Given the description of an element on the screen output the (x, y) to click on. 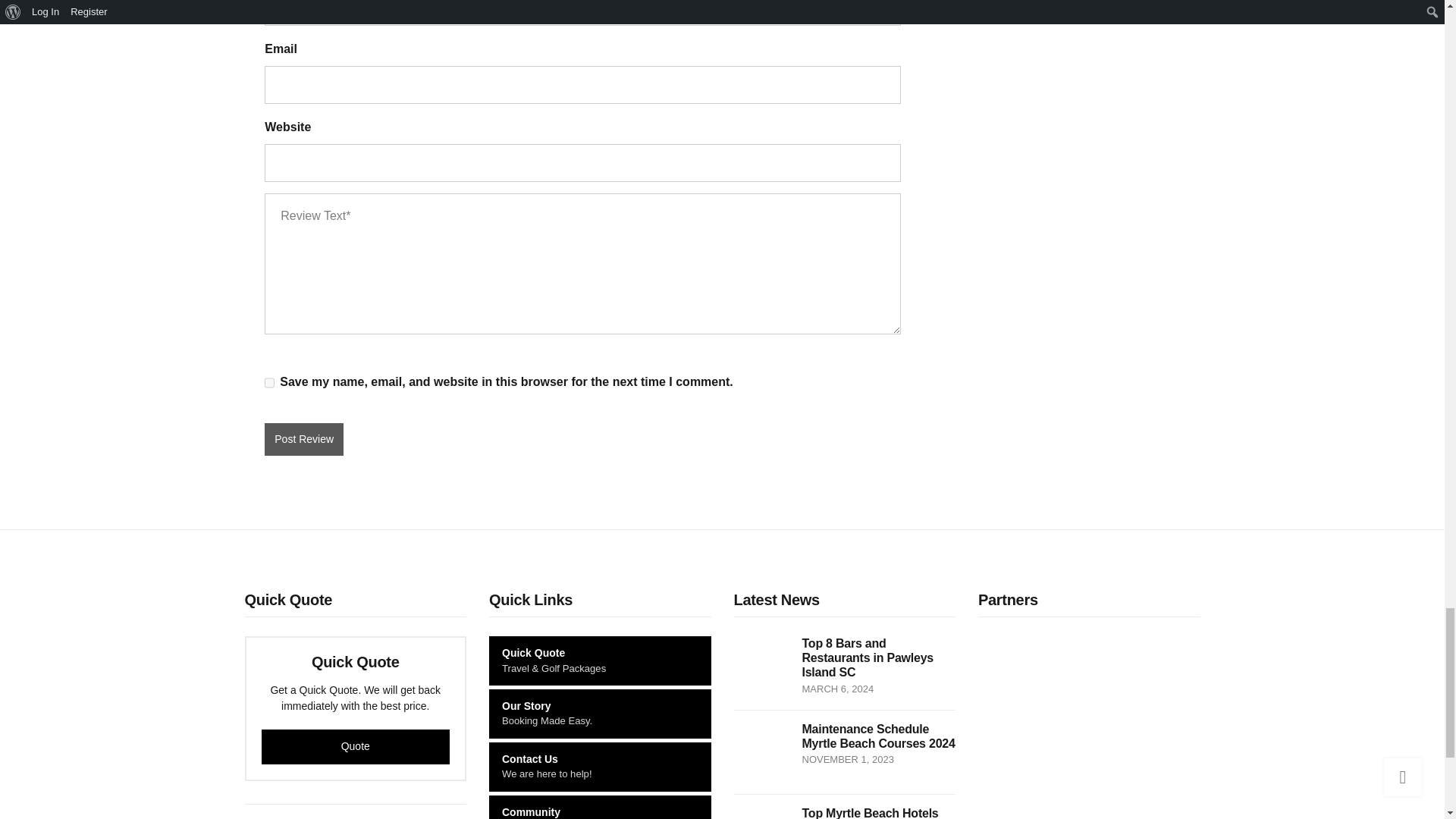
Post Review (303, 439)
